Given the description of an element on the screen output the (x, y) to click on. 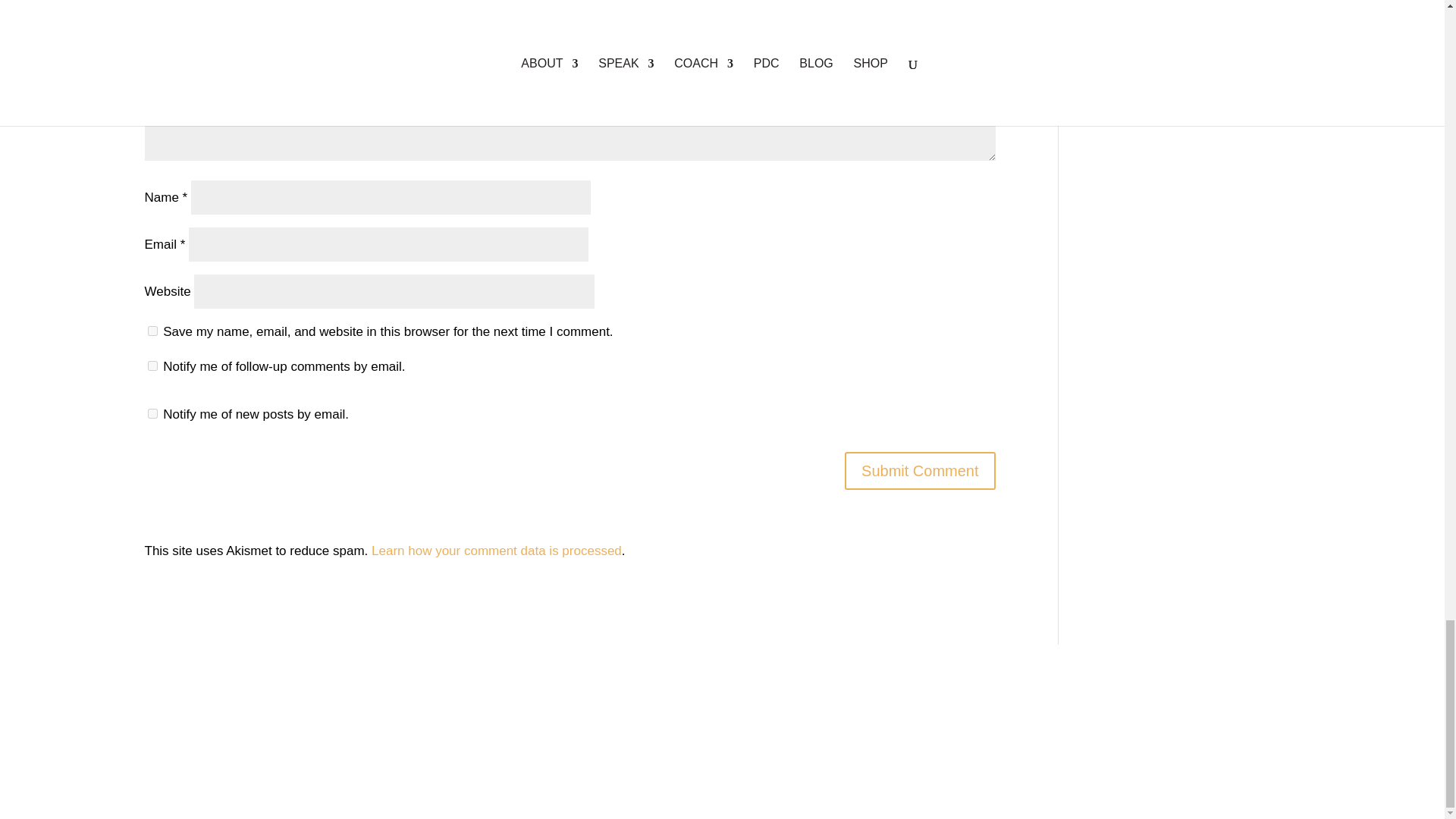
Submit Comment (919, 470)
Submit Comment (919, 470)
subscribe (152, 366)
subscribe (152, 413)
Learn how your comment data is processed (496, 550)
yes (152, 330)
